Given the description of an element on the screen output the (x, y) to click on. 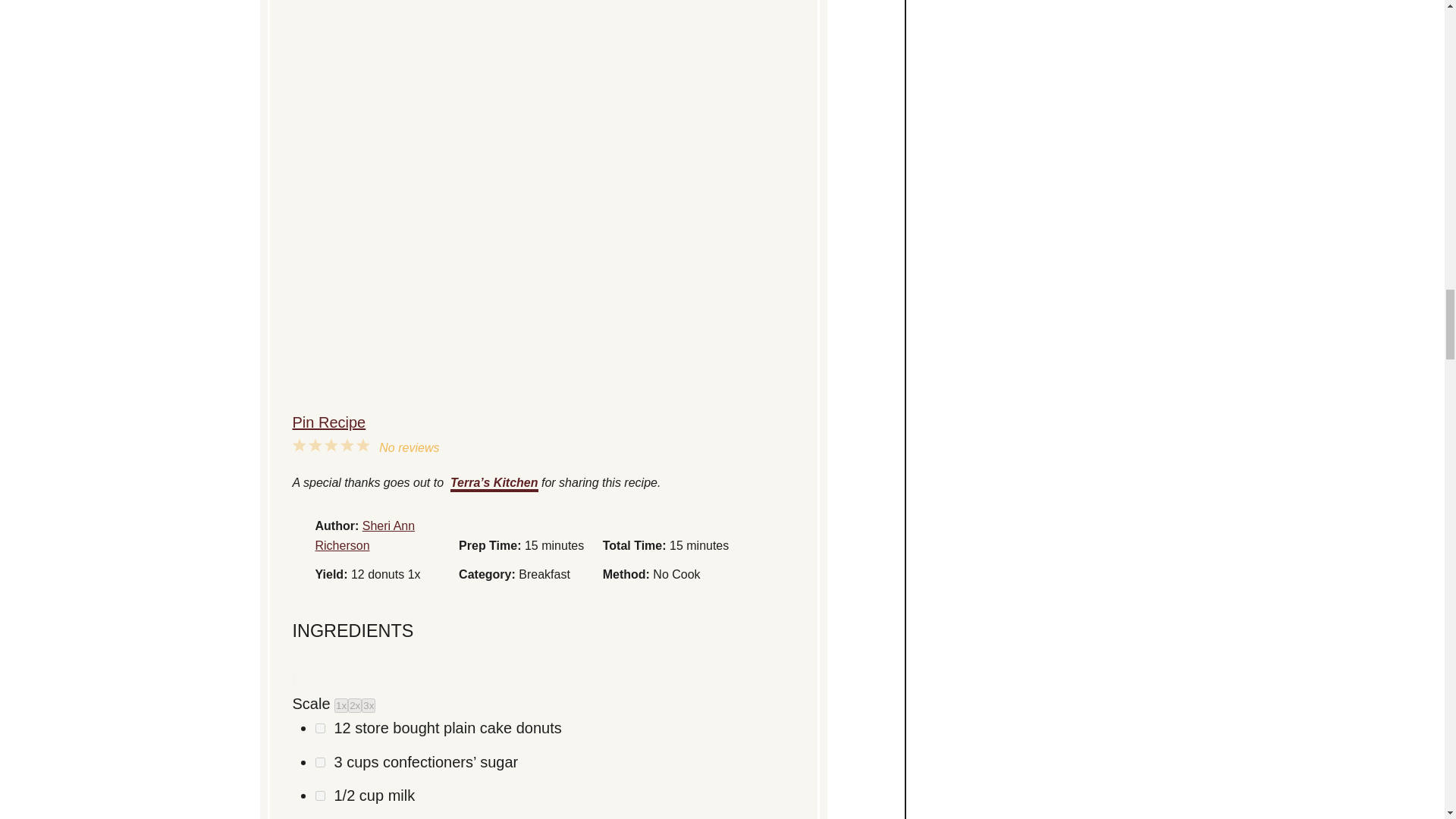
on (319, 728)
on (319, 795)
on (319, 762)
